Given the description of an element on the screen output the (x, y) to click on. 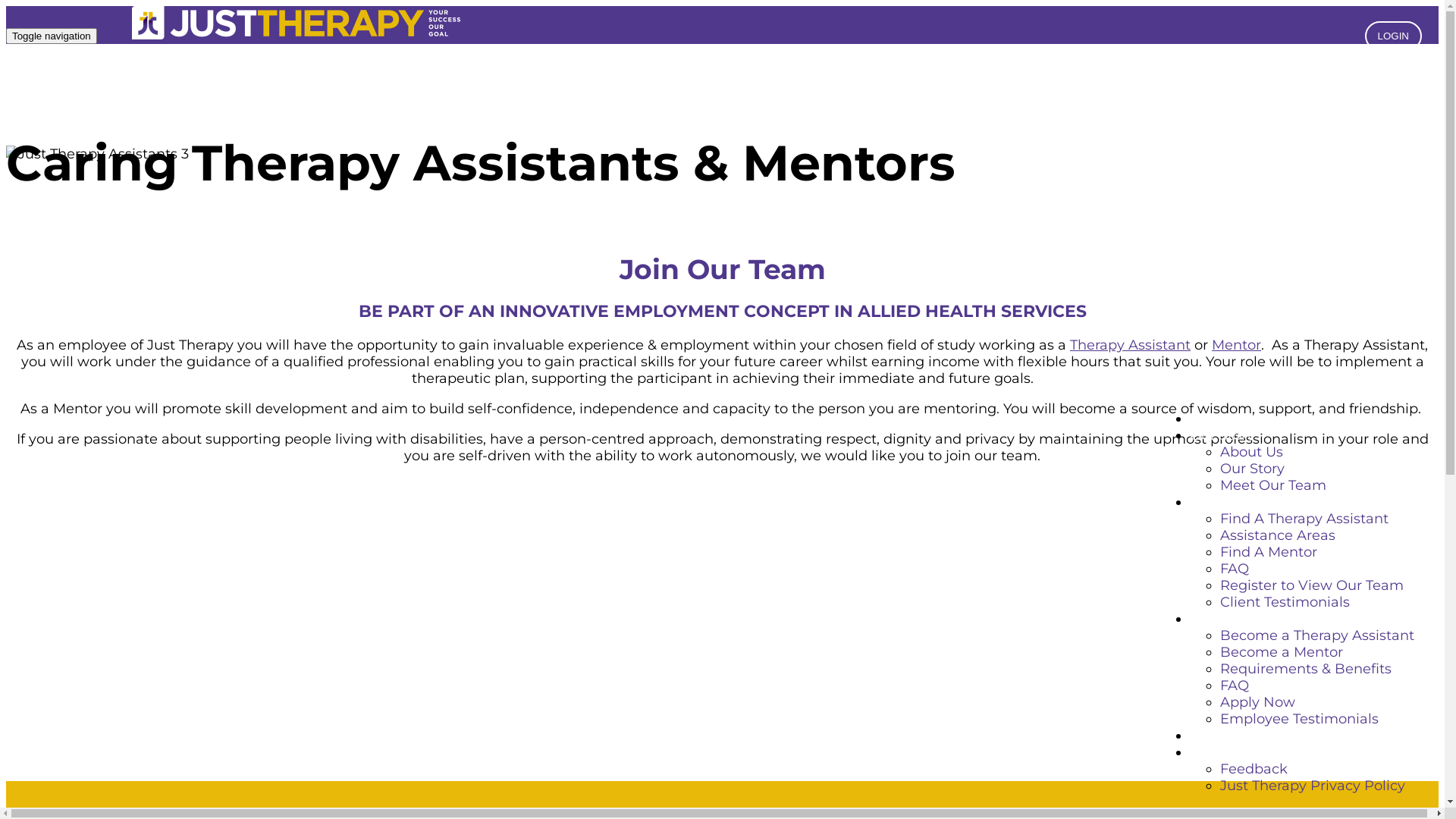
Feedback Element type: text (1253, 768)
Requirements & Benefits Element type: text (1305, 668)
Feedback Element type: text (1223, 751)
Just Therapy Privacy Policy Element type: text (1312, 785)
Our Story Element type: text (1221, 434)
Toggle navigation Element type: text (51, 35)
Mentor Element type: text (1236, 344)
Find Your Support Element type: text (1250, 501)
FAQ Element type: text (1234, 685)
Home Element type: text (1210, 418)
About Us Element type: text (1251, 451)
Join Our Team Element type: text (1239, 618)
Apply Now Element type: text (1257, 701)
Our Story Element type: text (1252, 468)
Employee Testimonials Element type: text (1299, 718)
Therapy Assistant Element type: text (1130, 344)
Become a Mentor Element type: text (1281, 651)
Client Testimonials Element type: text (1284, 601)
Become a Therapy Assistant Element type: text (1317, 635)
Contact Us Element type: text (1226, 735)
Find A Therapy Assistant Element type: text (1304, 518)
Register to View Our Team Element type: text (1311, 585)
LOGIN Element type: text (1393, 35)
Meet Our Team Element type: text (1273, 484)
Assistance Areas Element type: text (1277, 535)
Find A Mentor Element type: text (1268, 551)
FAQ Element type: text (1234, 568)
